Given the description of an element on the screen output the (x, y) to click on. 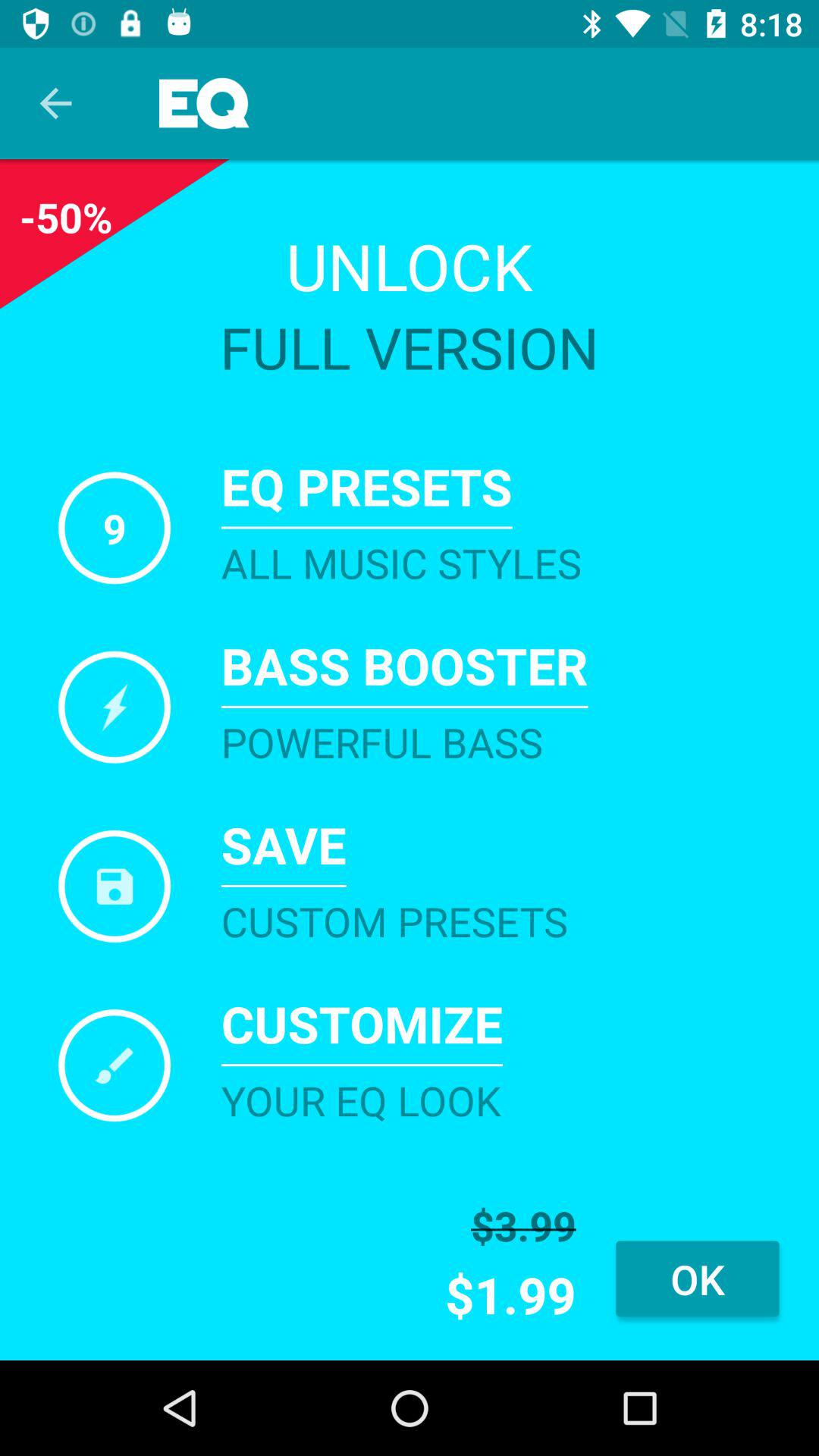
choose ok item (697, 1278)
